Given the description of an element on the screen output the (x, y) to click on. 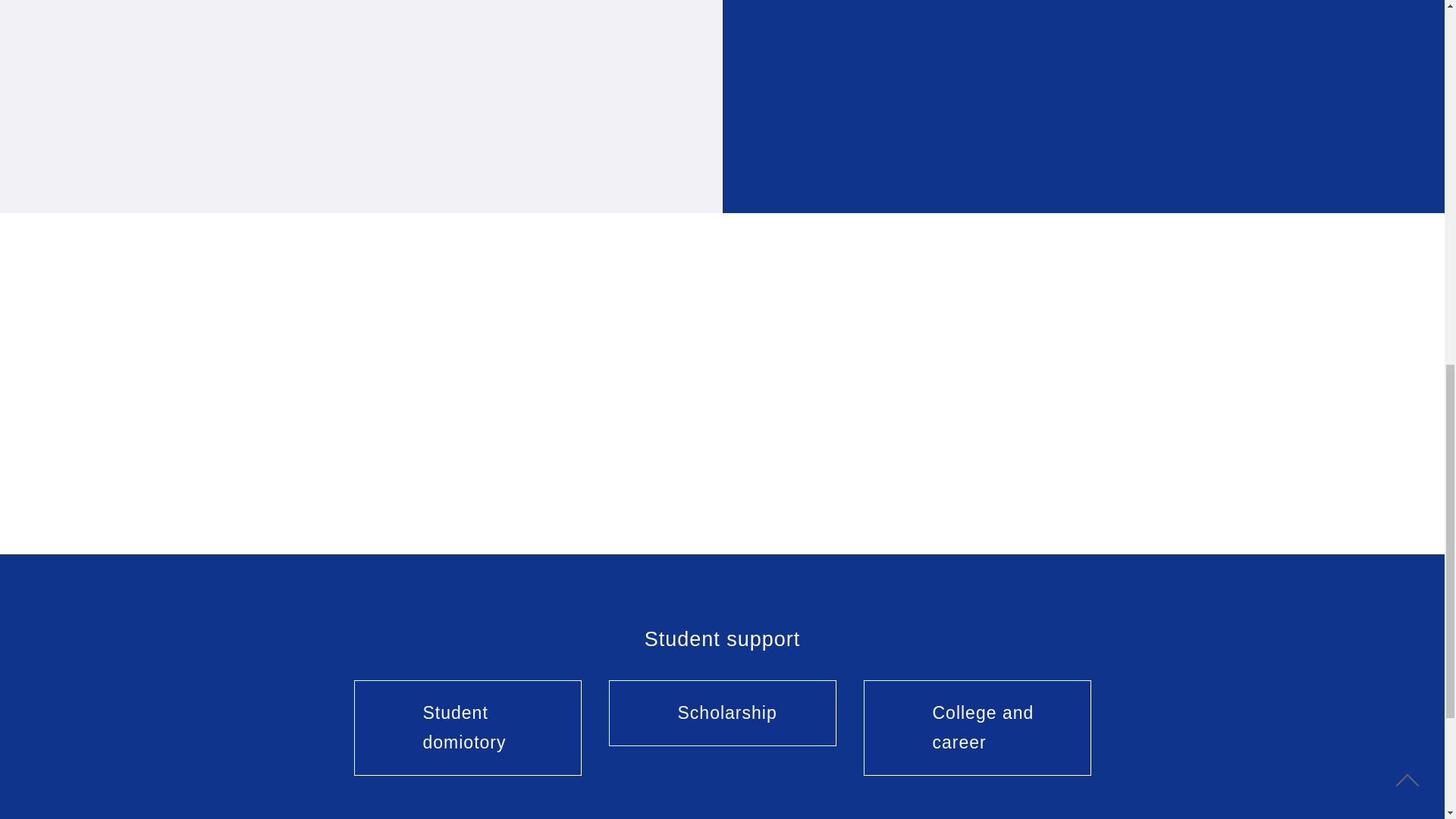
College and career (976, 727)
Scholarship (721, 713)
Student domiotory (466, 727)
